Given the description of an element on the screen output the (x, y) to click on. 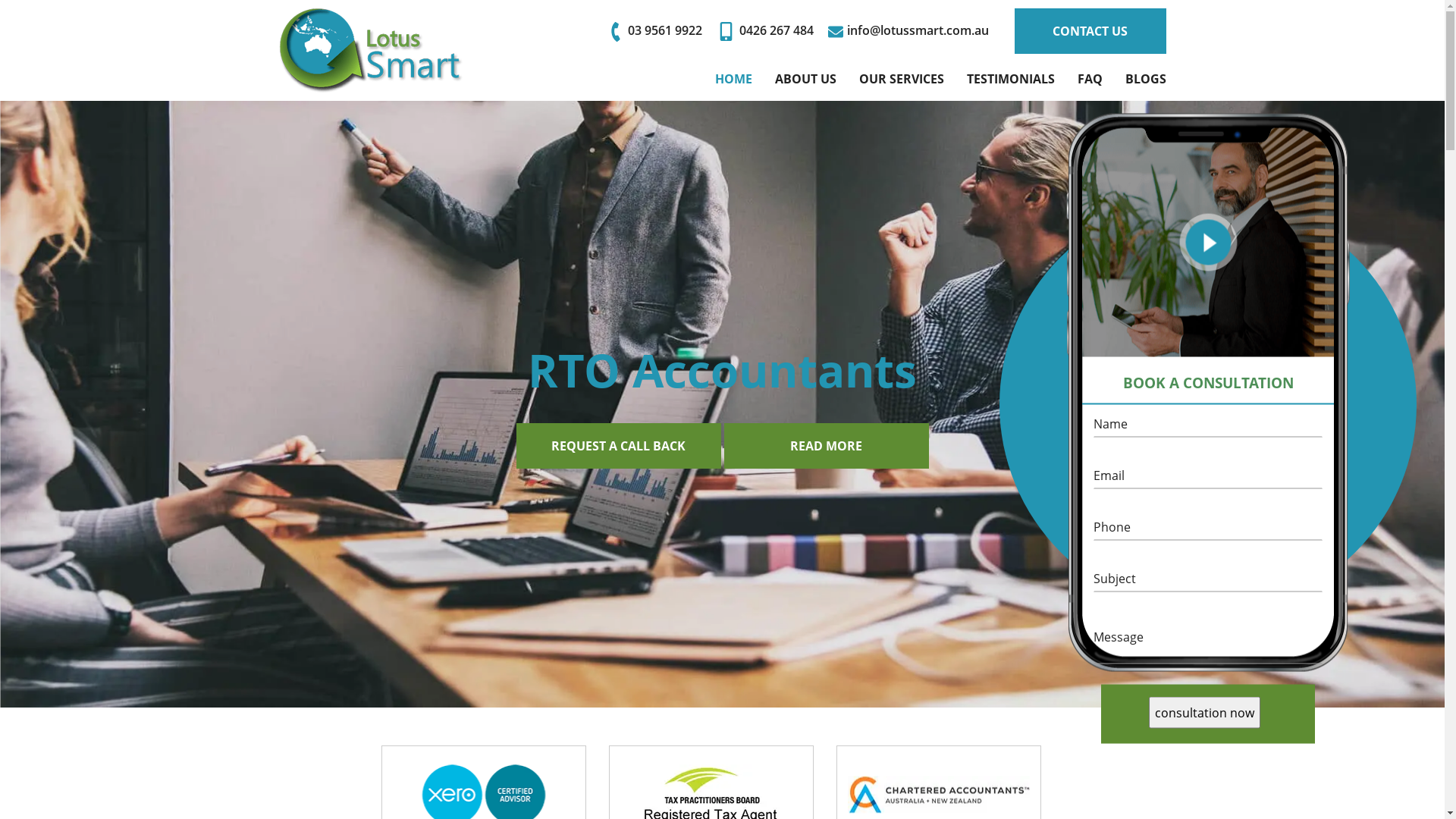
ABOUT US Element type: text (805, 78)
REQUEST A CALL BACK Element type: text (617, 475)
info@lotussmart.com.au Element type: text (908, 29)
03 9561 9922 Element type: text (654, 29)
0426 267 484 Element type: text (763, 29)
TESTIMONIALS Element type: text (1010, 78)
Lotus Smart Element type: hover (370, 50)
READ MORE Element type: text (825, 475)
FAQ Element type: text (1088, 78)
OUR SERVICES Element type: text (900, 78)
CONTACT US Element type: text (1090, 30)
consultation now Element type: text (1204, 712)
HOME Element type: text (732, 78)
BLOGS Element type: text (1145, 78)
